Given the description of an element on the screen output the (x, y) to click on. 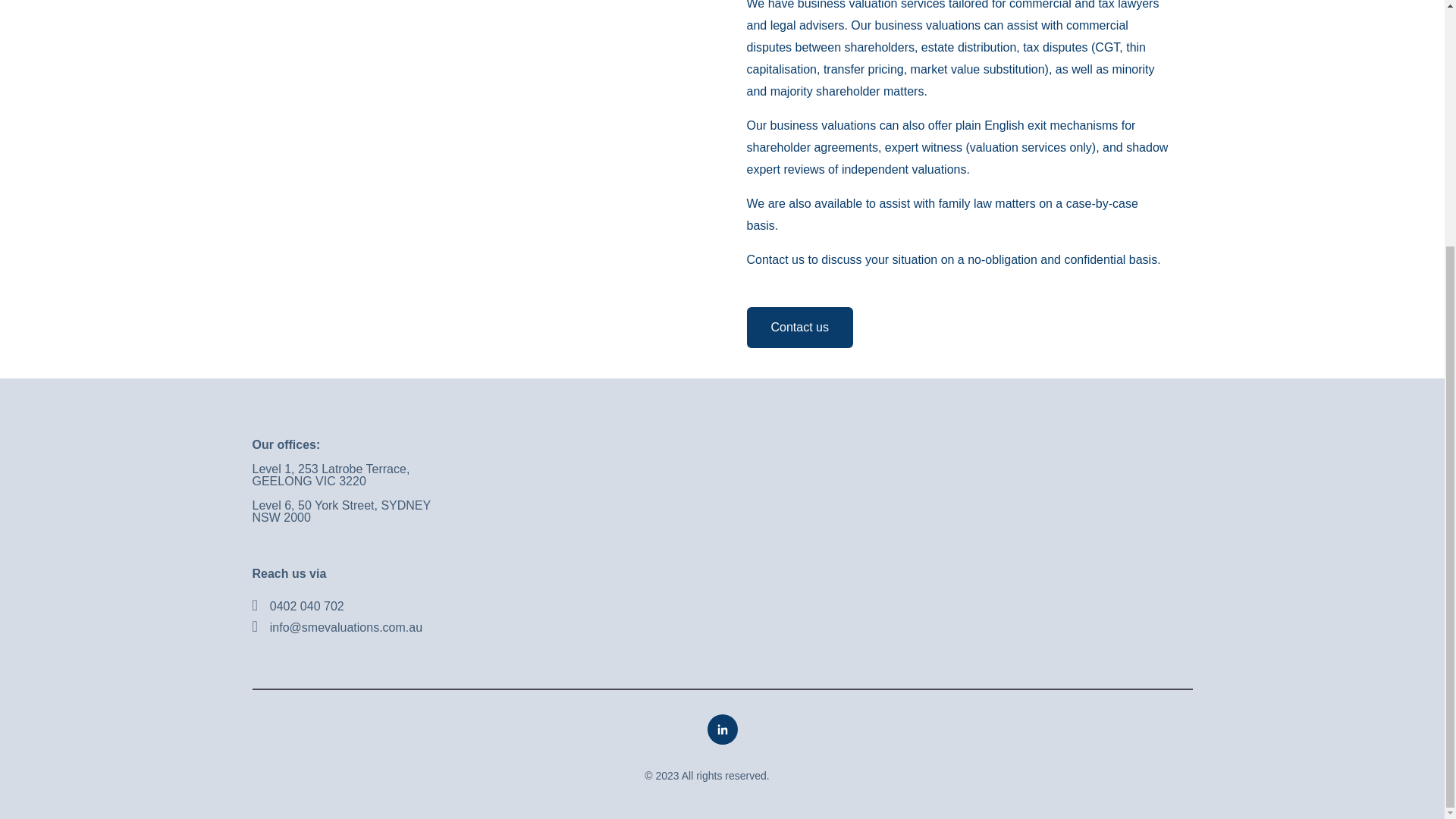
Contact us (798, 327)
0402 040 702 (306, 605)
